Given the description of an element on the screen output the (x, y) to click on. 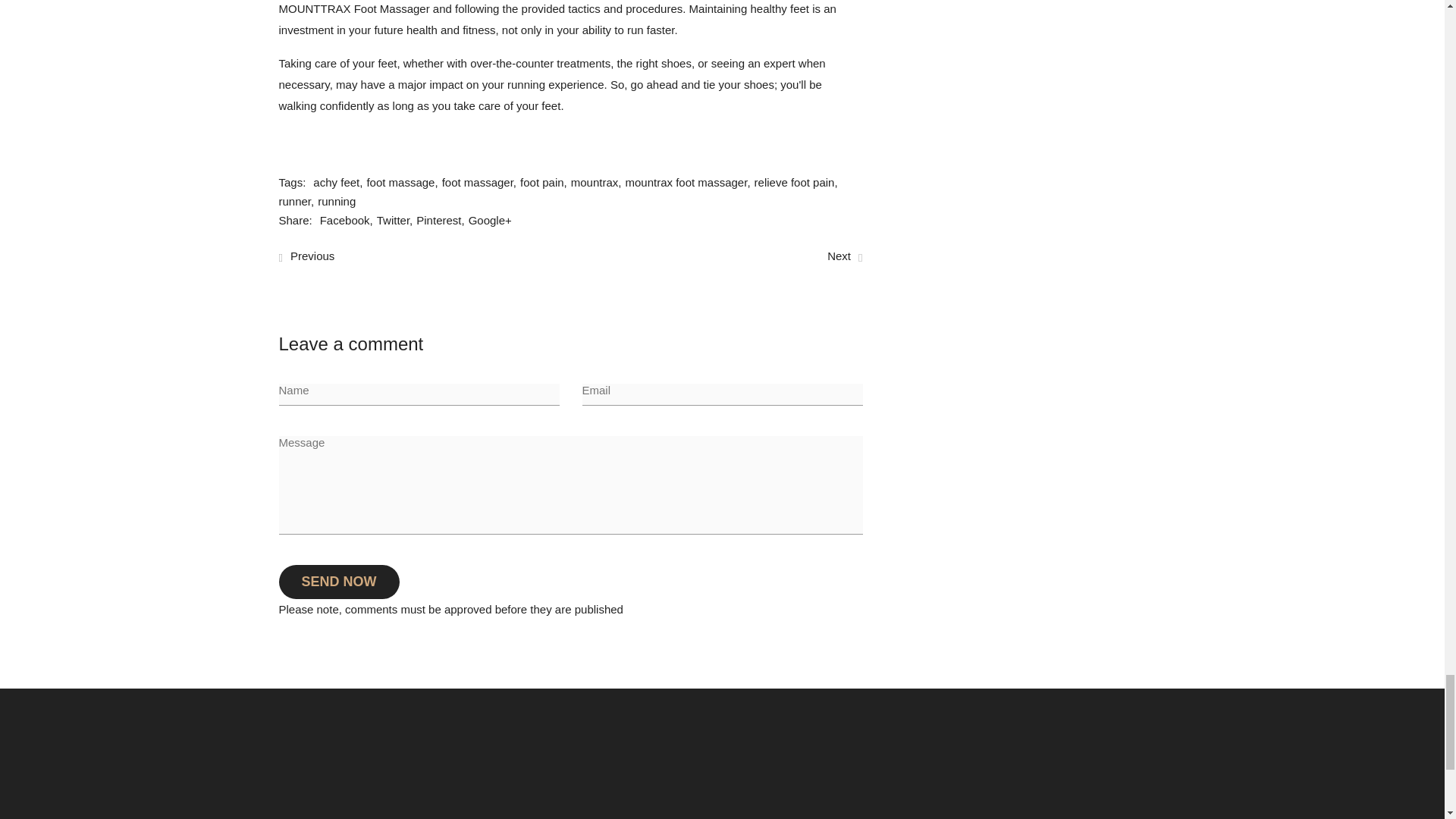
Share on Twitter (396, 220)
running (336, 200)
Twitter (396, 220)
mountrax foot massager (689, 181)
Share on Facebook (348, 220)
foot massage (403, 181)
achy feet (339, 181)
relieve foot pain (797, 181)
Share on Pinterest (441, 220)
foot pain (544, 181)
